Given the description of an element on the screen output the (x, y) to click on. 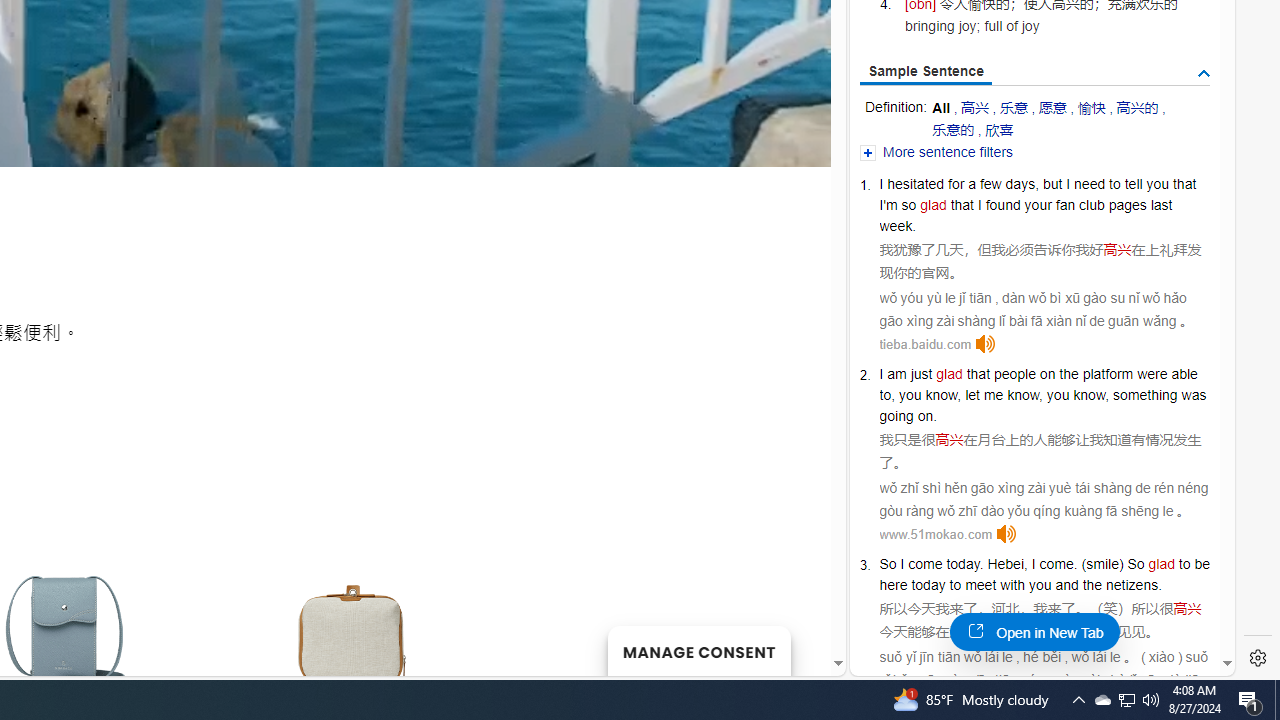
days (1019, 183)
meet (981, 584)
today (928, 584)
you (1039, 584)
( (1083, 563)
able (1184, 373)
